Given the description of an element on the screen output the (x, y) to click on. 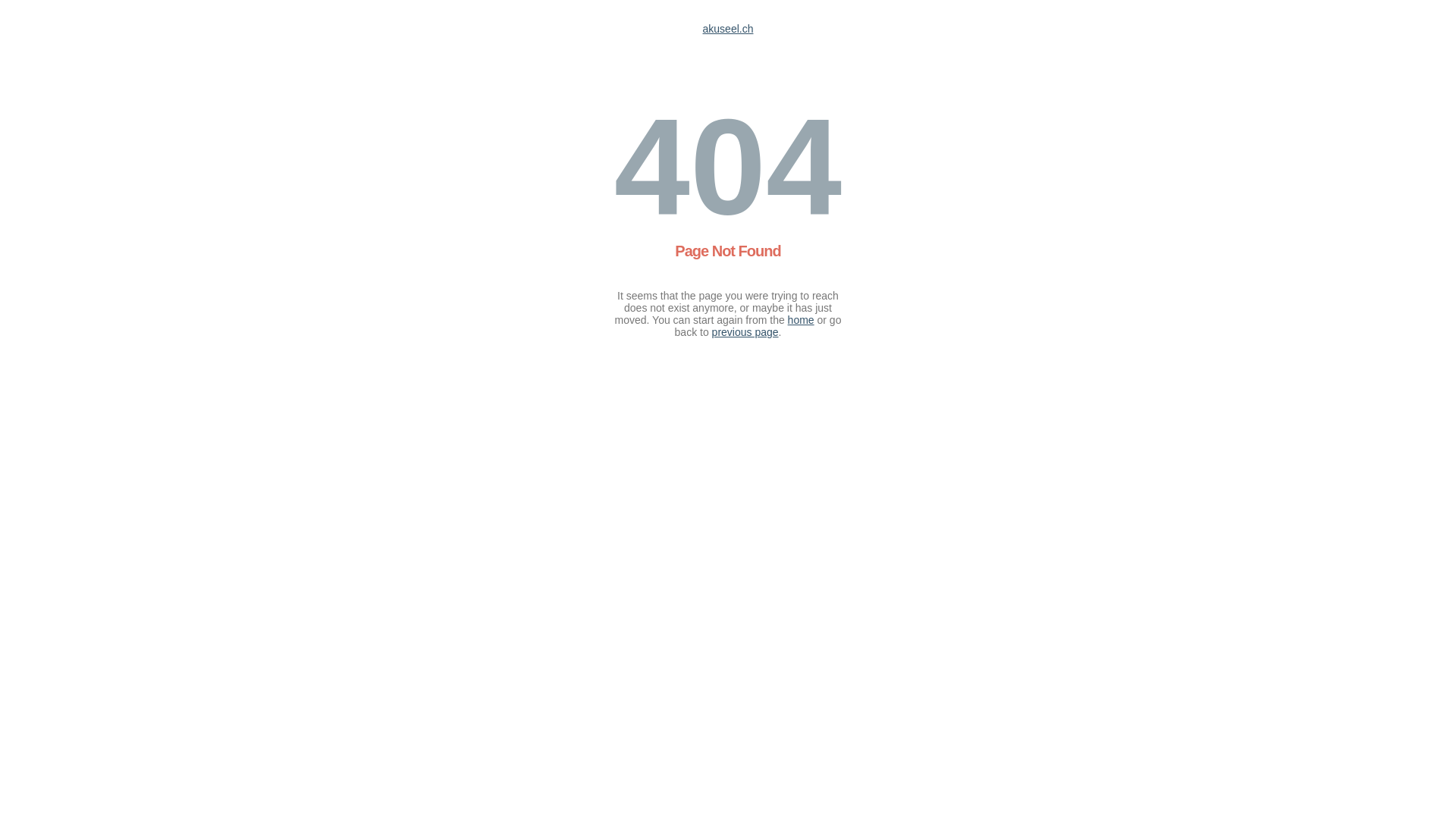
akuseel.ch Element type: text (727, 28)
previous page Element type: text (745, 332)
home Element type: text (800, 319)
